Given the description of an element on the screen output the (x, y) to click on. 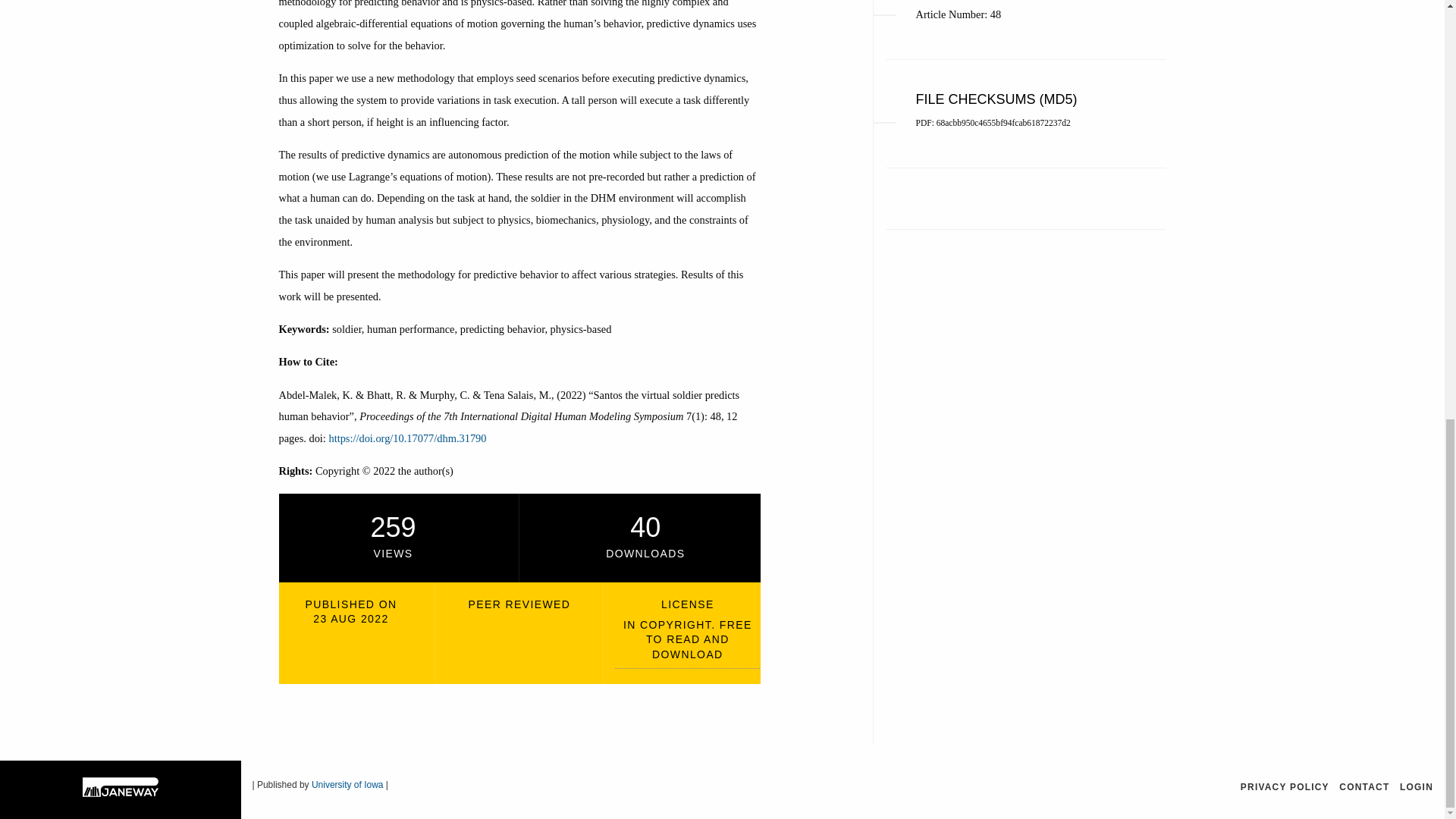
University of Iowa (347, 784)
Janeway-Logo-Final (120, 794)
IN COPYRIGHT. FREE TO READ AND DOWNLOAD (687, 643)
IN COPYRIGHT. FREE TO READ AND DOWNLOAD (687, 643)
Janeway-Logo-Final (120, 786)
